Given the description of an element on the screen output the (x, y) to click on. 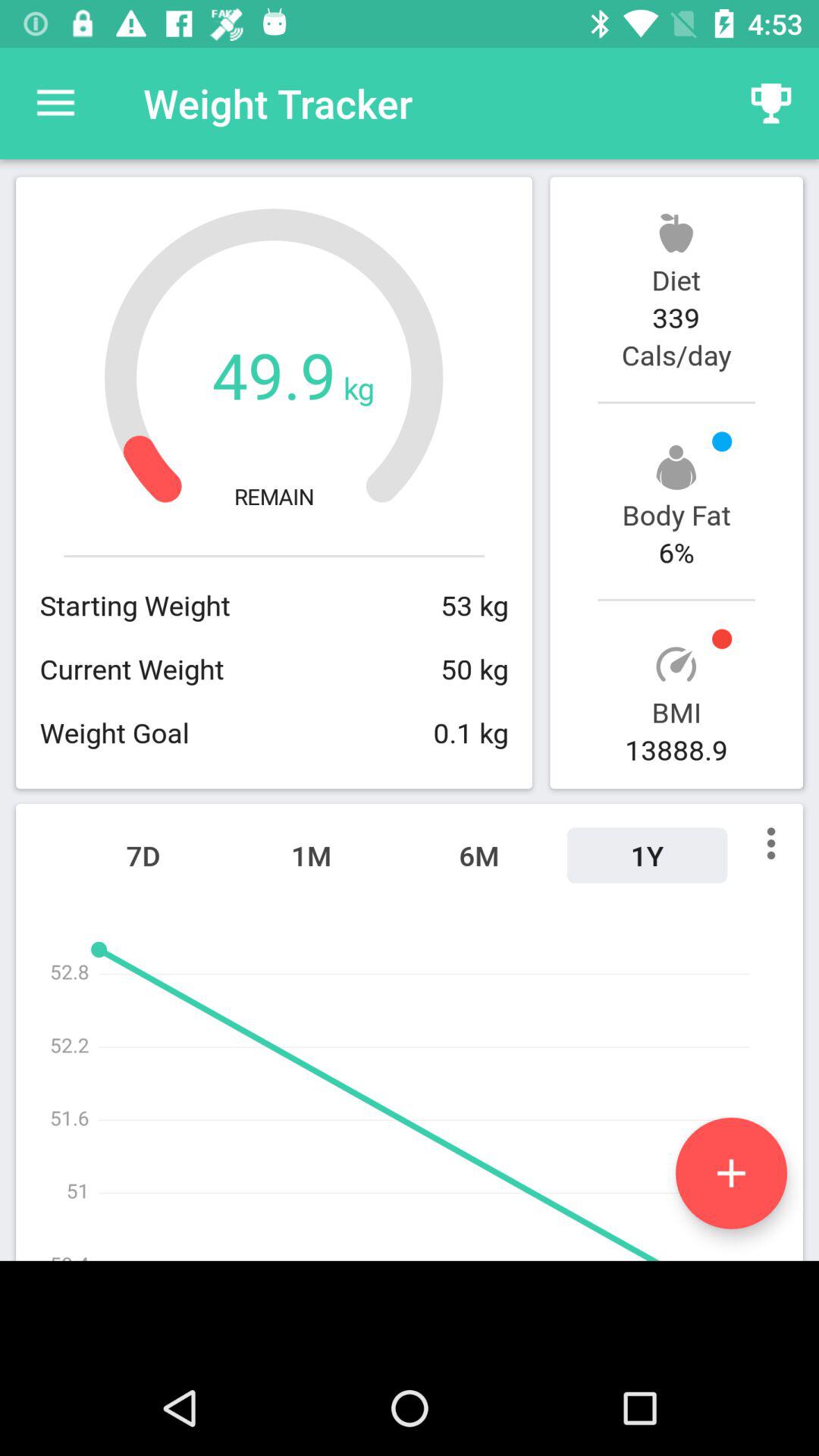
open icon below 1y icon (731, 1173)
